Given the description of an element on the screen output the (x, y) to click on. 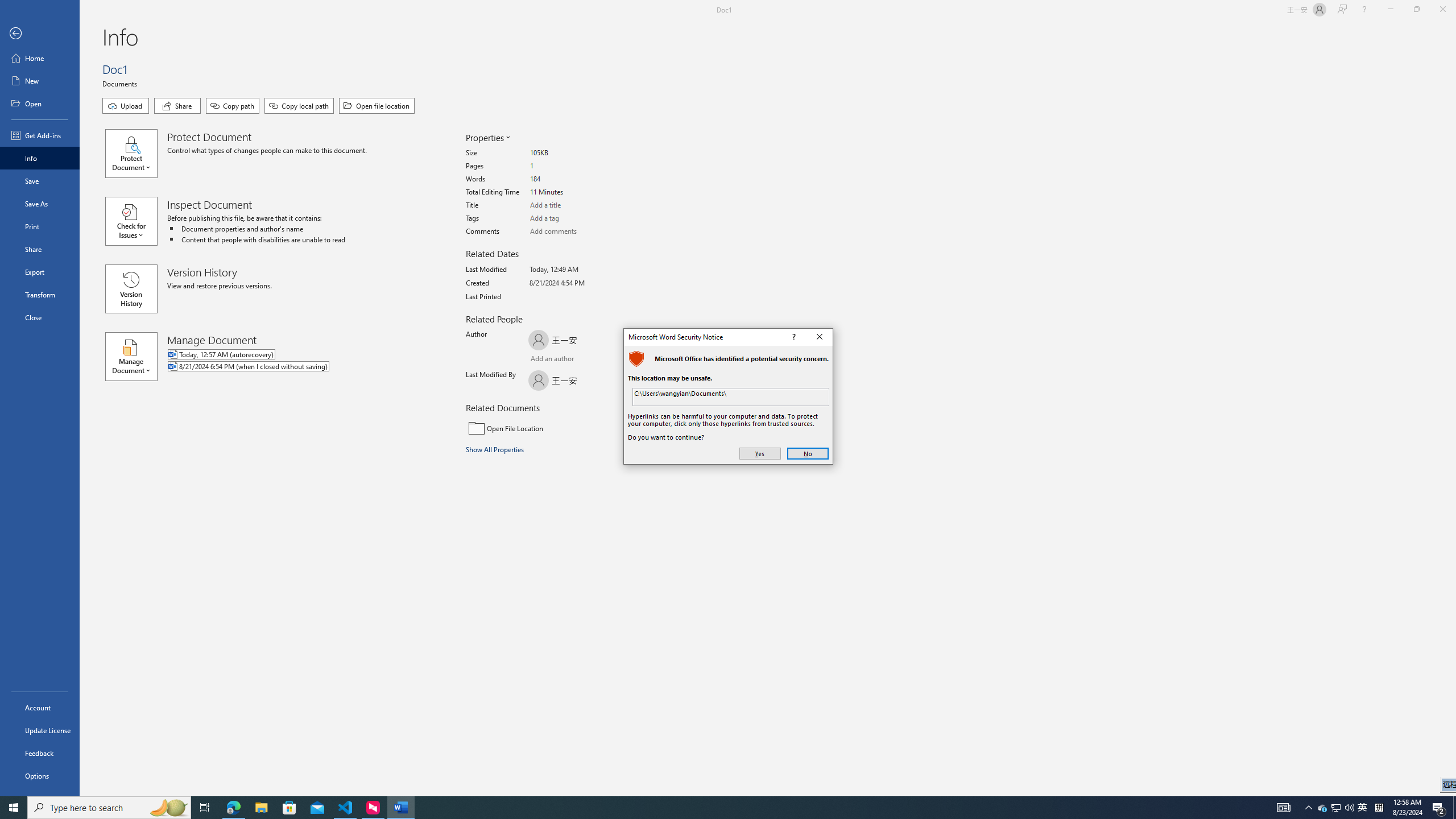
Start (13, 807)
Notification Chevron (1308, 807)
User Promoted Notification Area (1336, 807)
Search highlights icon opens search home window (167, 807)
Q2790: 100% (1349, 807)
Minimize (1390, 9)
Yes (759, 453)
Microsoft Store (289, 807)
Words (572, 179)
Copy local path (298, 105)
Feedback (40, 753)
Tags (572, 218)
